Given the description of an element on the screen output the (x, y) to click on. 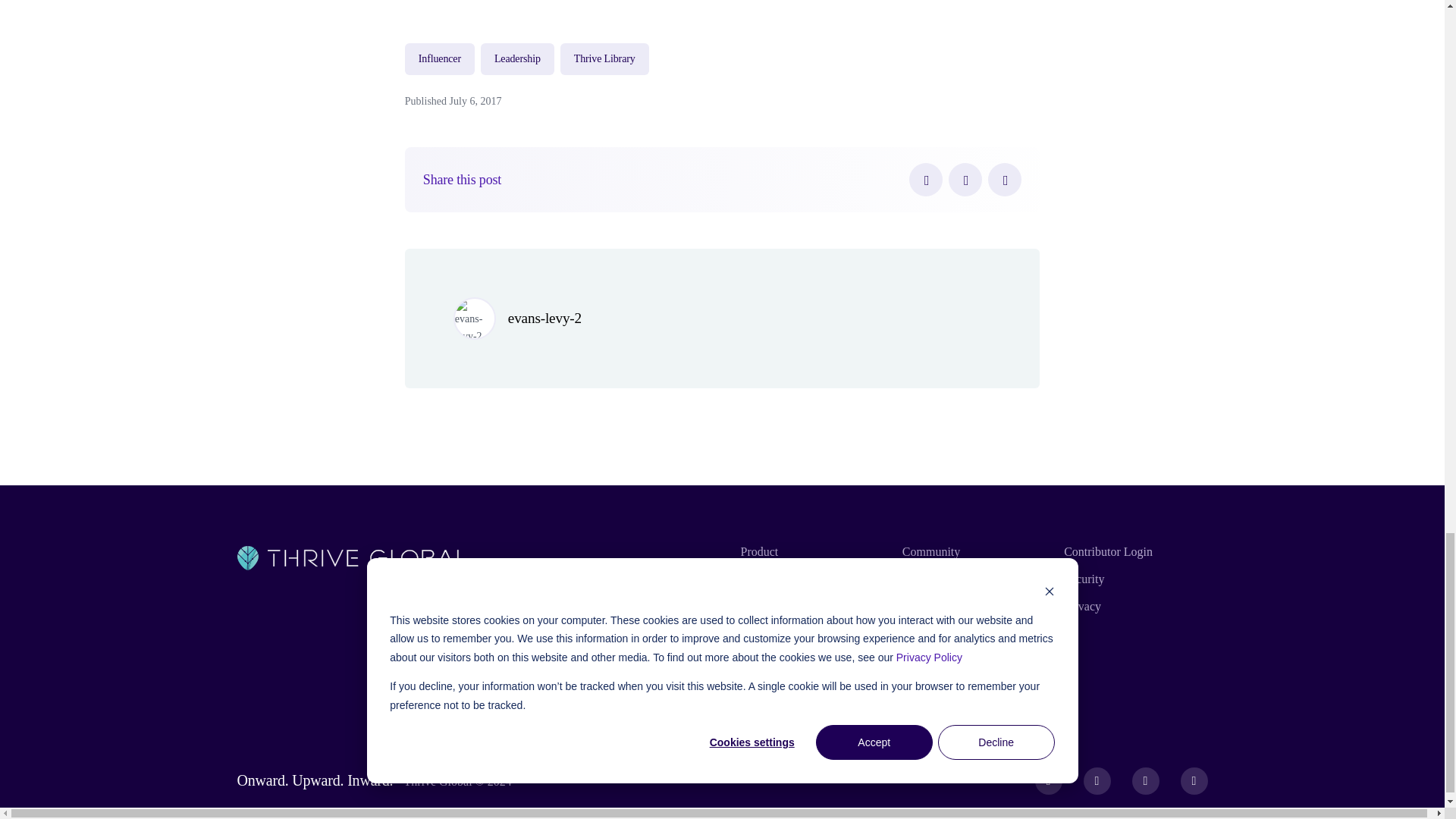
Facebook (925, 179)
LinkedIn (1005, 179)
evans-levy-2 (544, 317)
Twitter (965, 179)
